Given the description of an element on the screen output the (x, y) to click on. 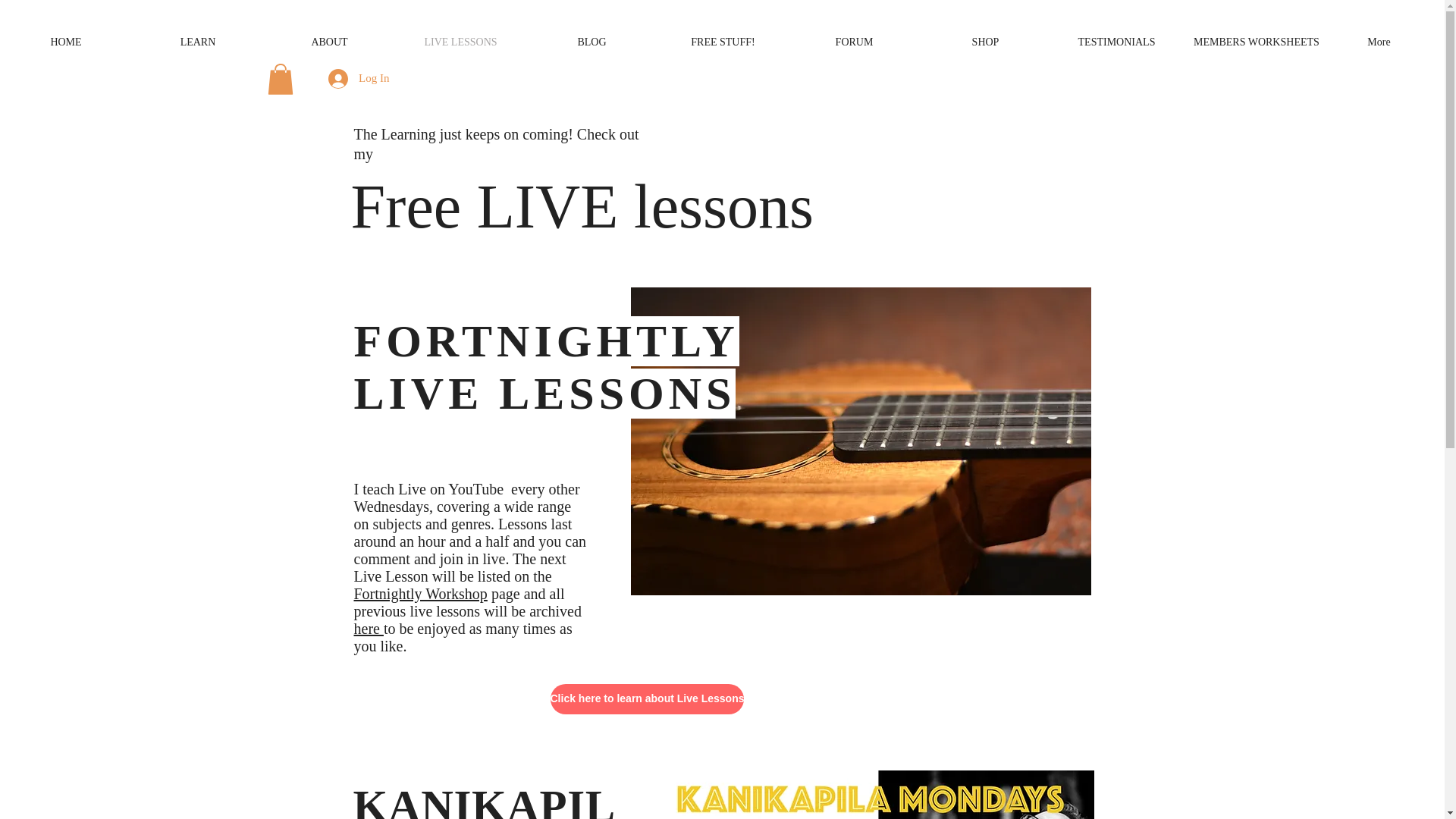
SHOP (985, 42)
ABOUT (328, 42)
Log In (357, 78)
FORUM (854, 42)
LEARN (197, 42)
HOME (66, 42)
LIVE LESSONS (459, 42)
MEMBERS WORKSHEETS (1247, 42)
FREE STUFF! (723, 42)
TESTIMONIALS (1116, 42)
BLOG (591, 42)
